Given the description of an element on the screen output the (x, y) to click on. 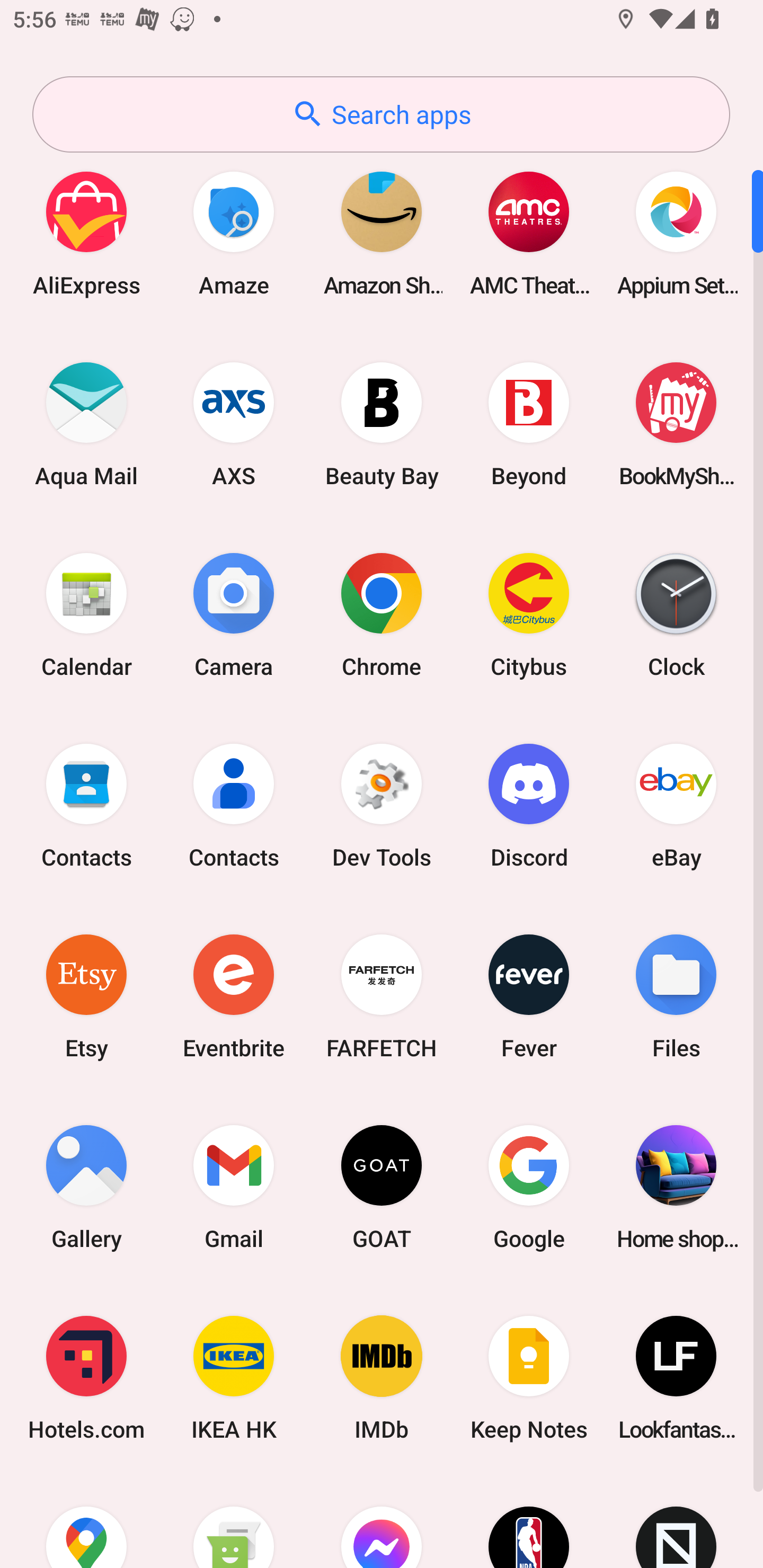
  Search apps (381, 114)
AliExpress (86, 233)
Amaze (233, 233)
Amazon Shopping (381, 233)
AMC Theatres (528, 233)
Appium Settings (676, 233)
Aqua Mail (86, 424)
AXS (233, 424)
Beauty Bay (381, 424)
Beyond (528, 424)
BookMyShow (676, 424)
Calendar (86, 614)
Camera (233, 614)
Chrome (381, 614)
Citybus (528, 614)
Clock (676, 614)
Contacts (86, 805)
Contacts (233, 805)
Dev Tools (381, 805)
Discord (528, 805)
eBay (676, 805)
Etsy (86, 996)
Eventbrite (233, 996)
FARFETCH (381, 996)
Fever (528, 996)
Files (676, 996)
Gallery (86, 1186)
Gmail (233, 1186)
GOAT (381, 1186)
Google (528, 1186)
Home shopping (676, 1186)
Hotels.com (86, 1377)
IKEA HK (233, 1377)
IMDb (381, 1377)
Keep Notes (528, 1377)
Lookfantastic (676, 1377)
Maps (86, 1520)
Messaging (233, 1520)
Messenger (381, 1520)
NBA (528, 1520)
Novelship (676, 1520)
